Given the description of an element on the screen output the (x, y) to click on. 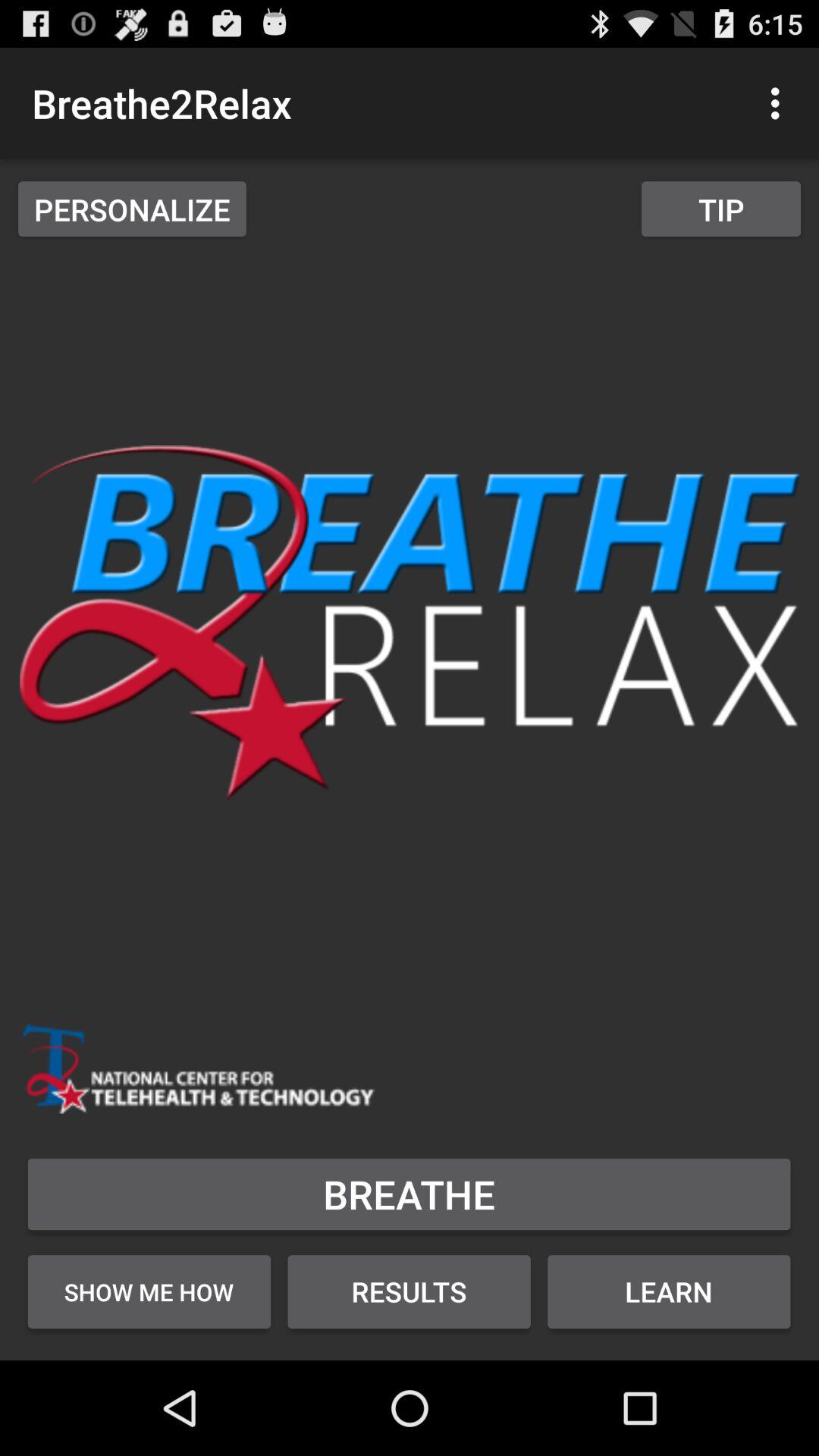
tap the button below the breathe (668, 1291)
